Given the description of an element on the screen output the (x, y) to click on. 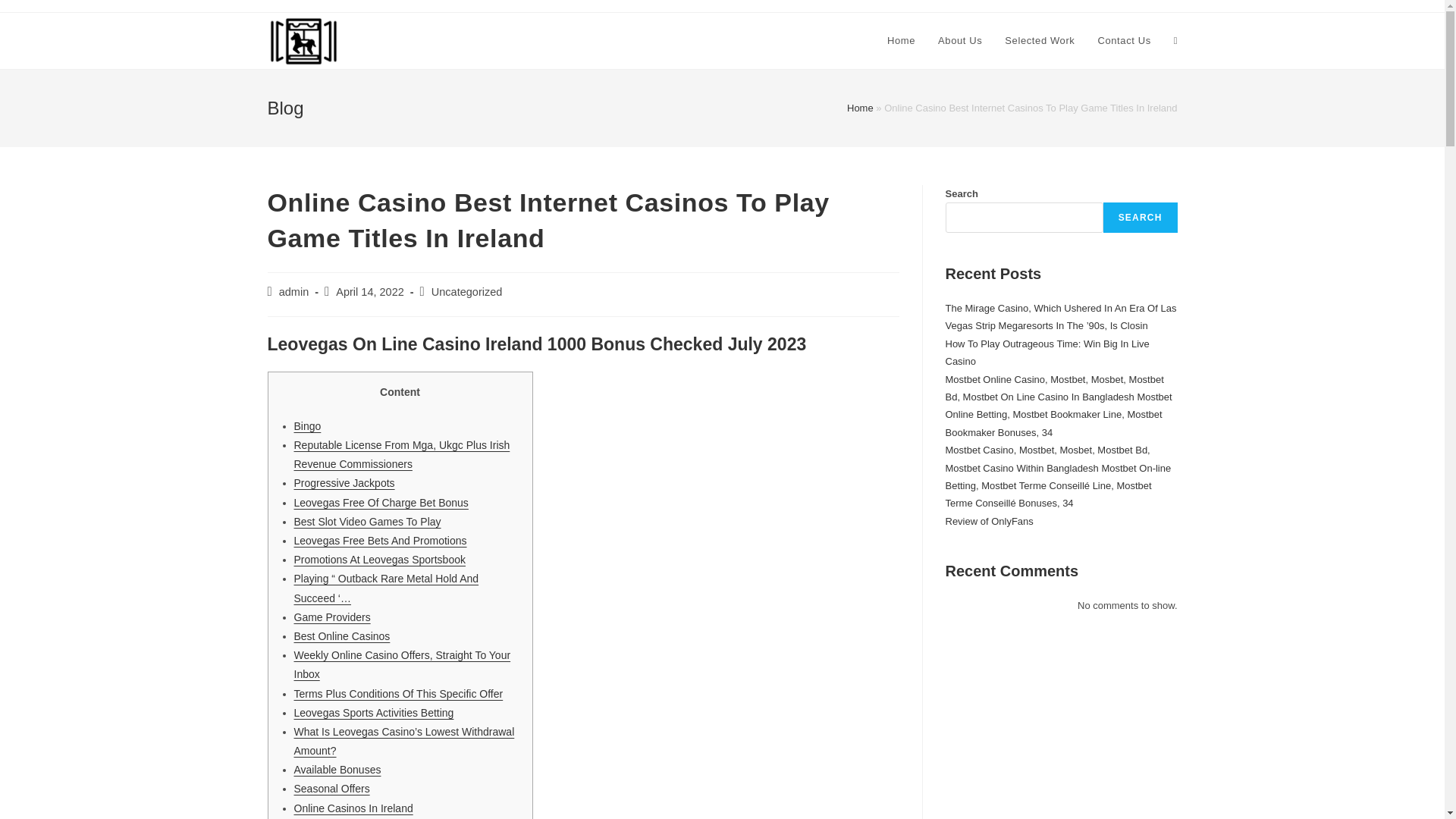
Contact Us (1123, 40)
Leovegas Free Of Charge Bet Bonus (381, 502)
Weekly Online Casino Offers, Straight To Your Inbox (402, 664)
Progressive Jackpots (344, 482)
Home (860, 107)
Home (901, 40)
Bingo (307, 426)
Leovegas Sports Activities Betting (374, 712)
Promotions At Leovegas Sportsbook (379, 559)
Terms Plus Conditions Of This Specific Offer (398, 693)
